Given the description of an element on the screen output the (x, y) to click on. 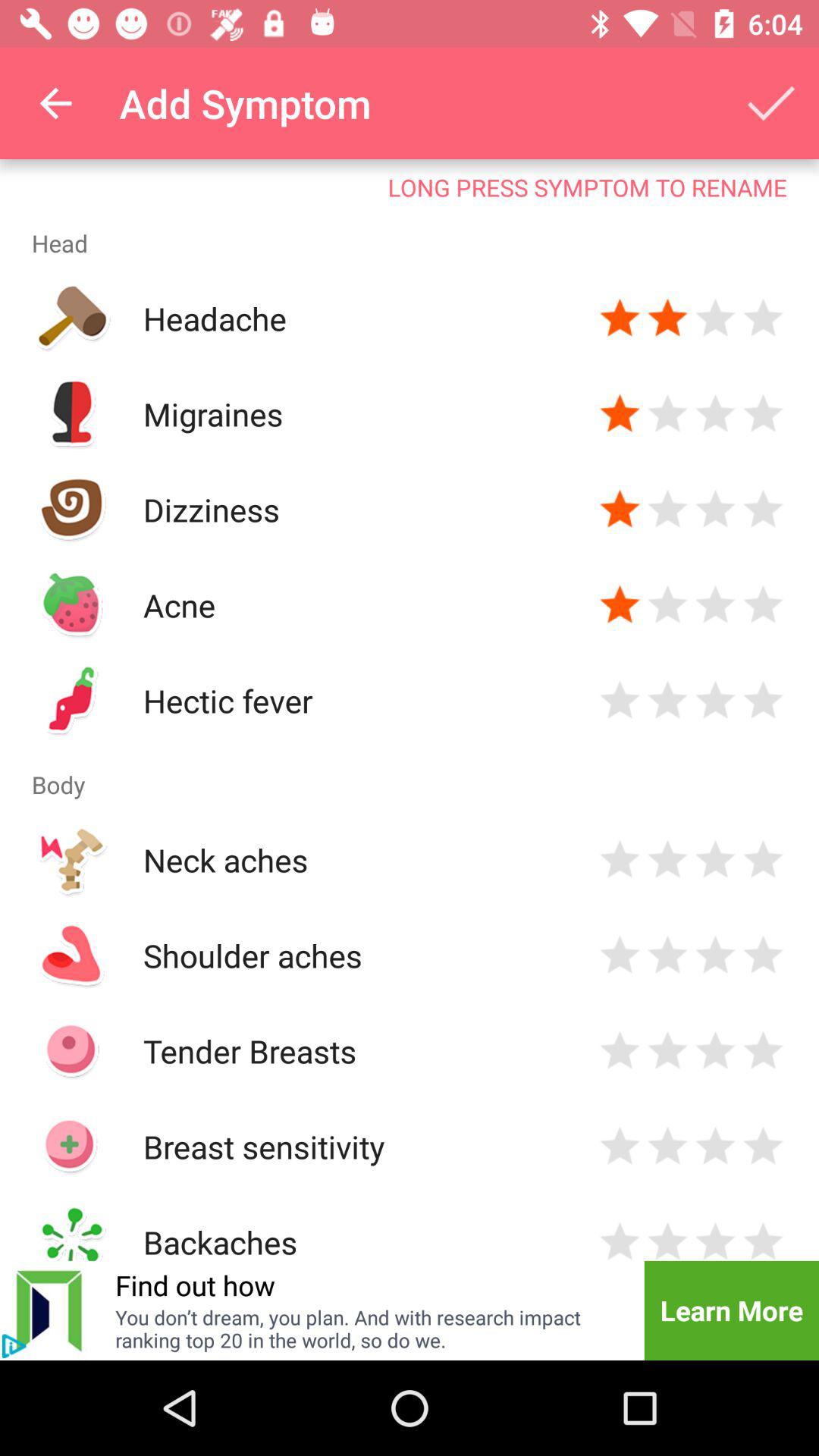
star for star feedback of acne (619, 605)
